Given the description of an element on the screen output the (x, y) to click on. 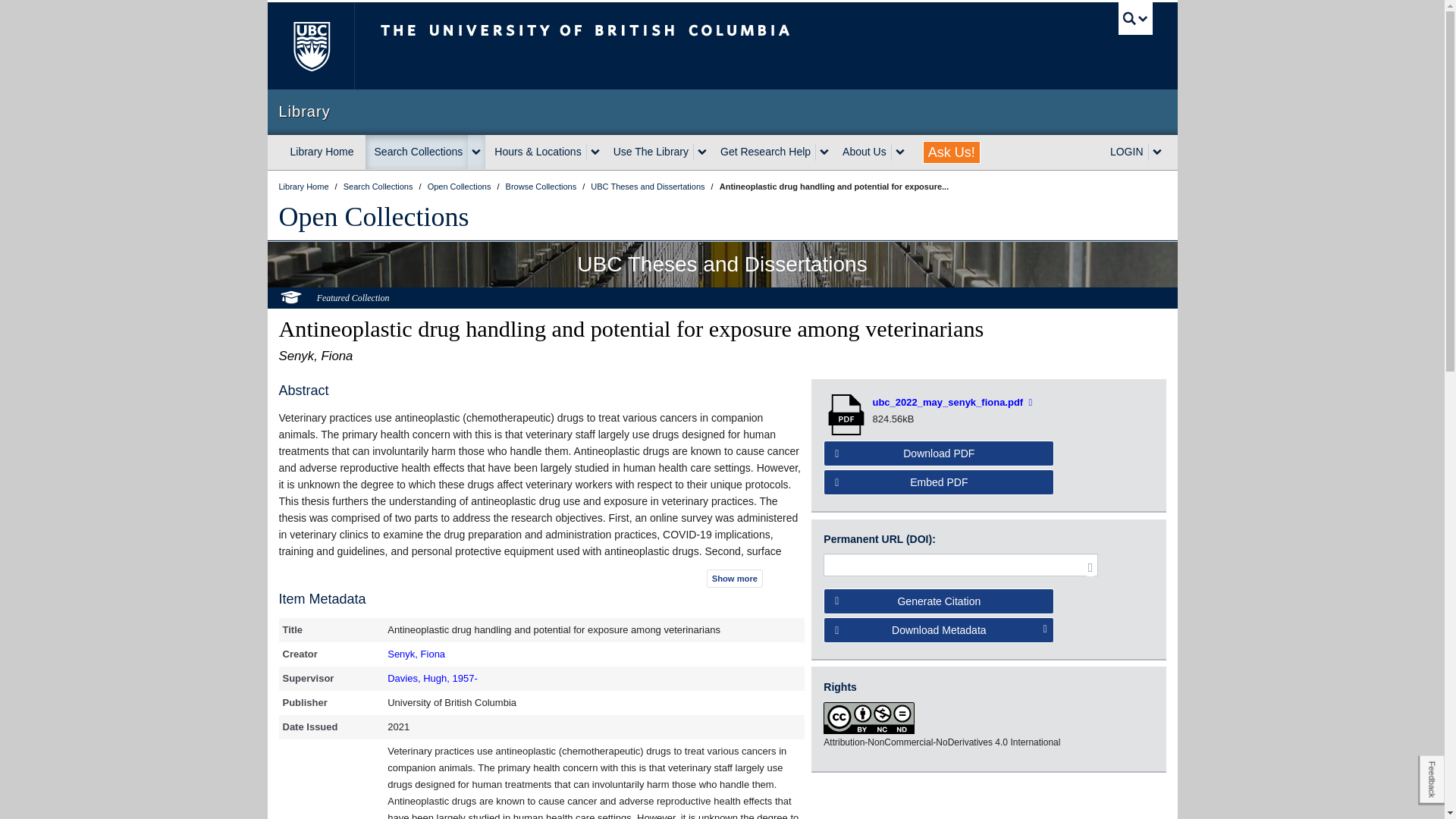
UBC Search (1135, 18)
Search Collections (416, 151)
open file (848, 414)
Browse Collections (542, 185)
Library Home (322, 151)
UBC Library (305, 185)
The University of British Columbia (635, 45)
The University of British Columbia (309, 45)
Open Collections (460, 185)
Library (722, 111)
